Given the description of an element on the screen output the (x, y) to click on. 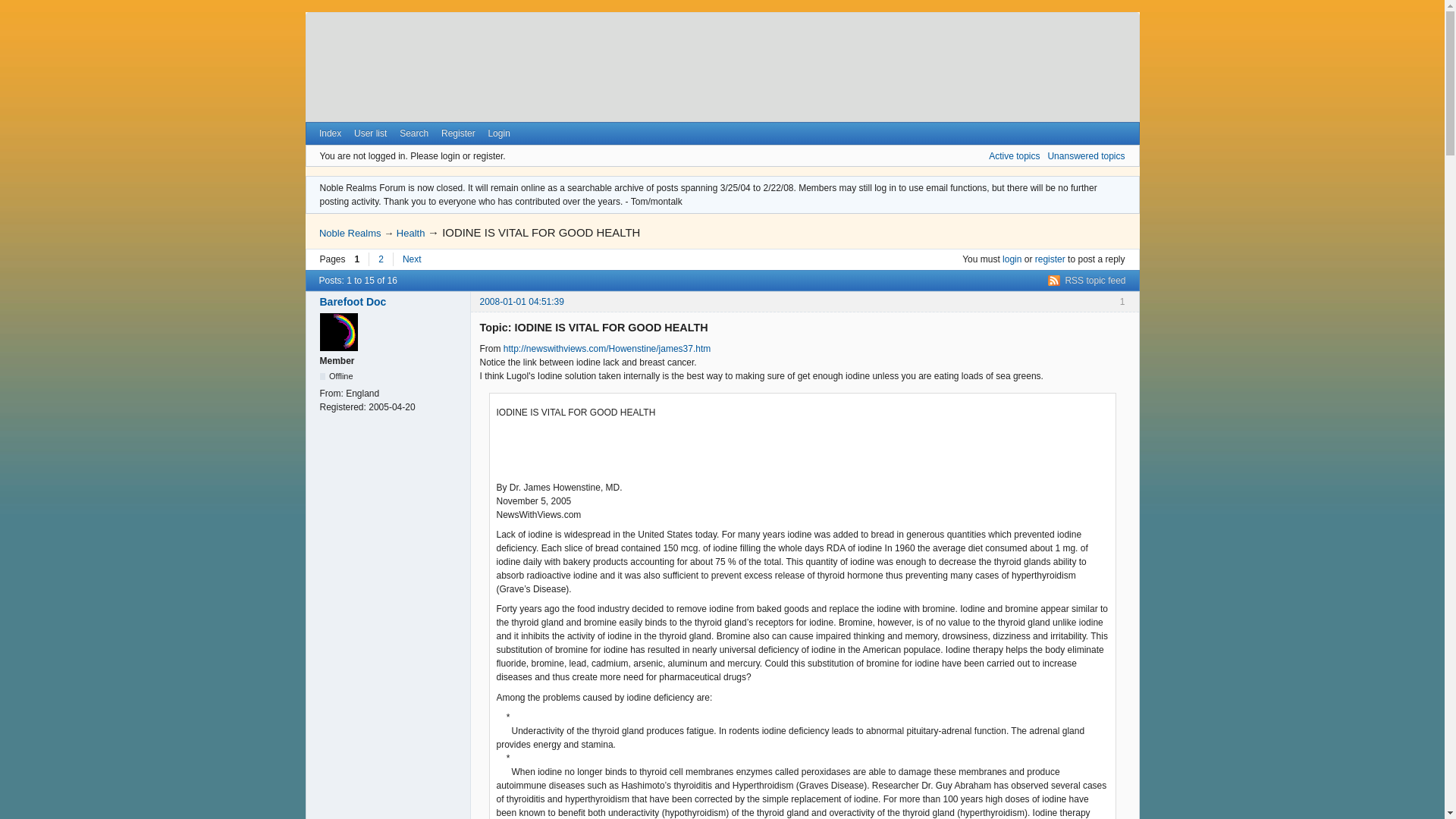
Login (498, 133)
login (1012, 258)
RSS topic feed (1086, 280)
Search (414, 133)
Go to Barefoot Doc's profile (390, 301)
Find topics which have not been replied to. (1085, 154)
2 (380, 259)
Unanswered topics (1085, 154)
Index (330, 133)
Next (411, 259)
register (1050, 258)
Find topics which contain recent posts. (1013, 154)
Active topics (1013, 154)
2008-01-01 04:51:39 (521, 301)
Register (458, 133)
